Given the description of an element on the screen output the (x, y) to click on. 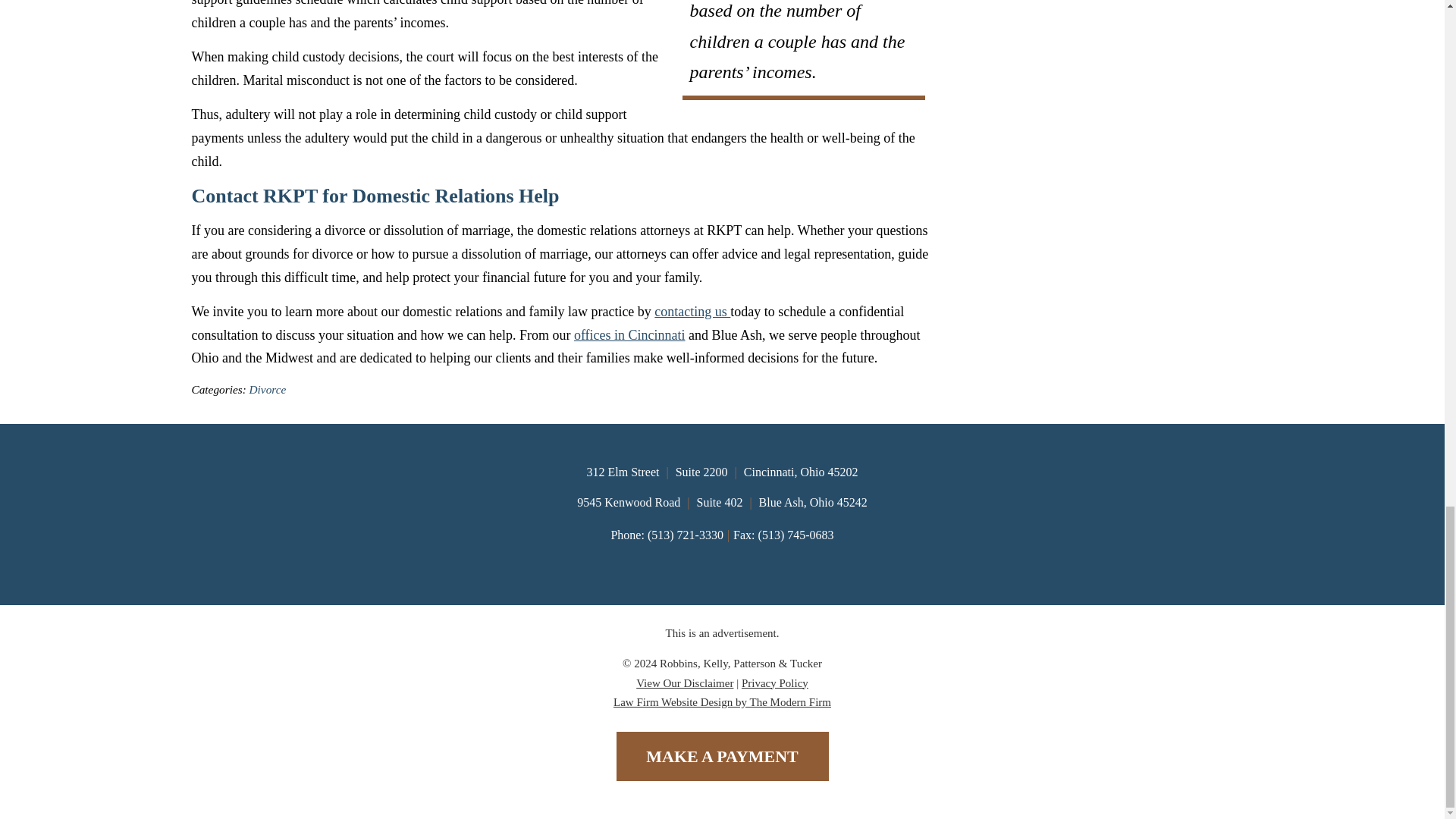
Law Firm Website Design (721, 702)
Click for more Divorce information (267, 389)
Disclaimer (684, 683)
